Given the description of an element on the screen output the (x, y) to click on. 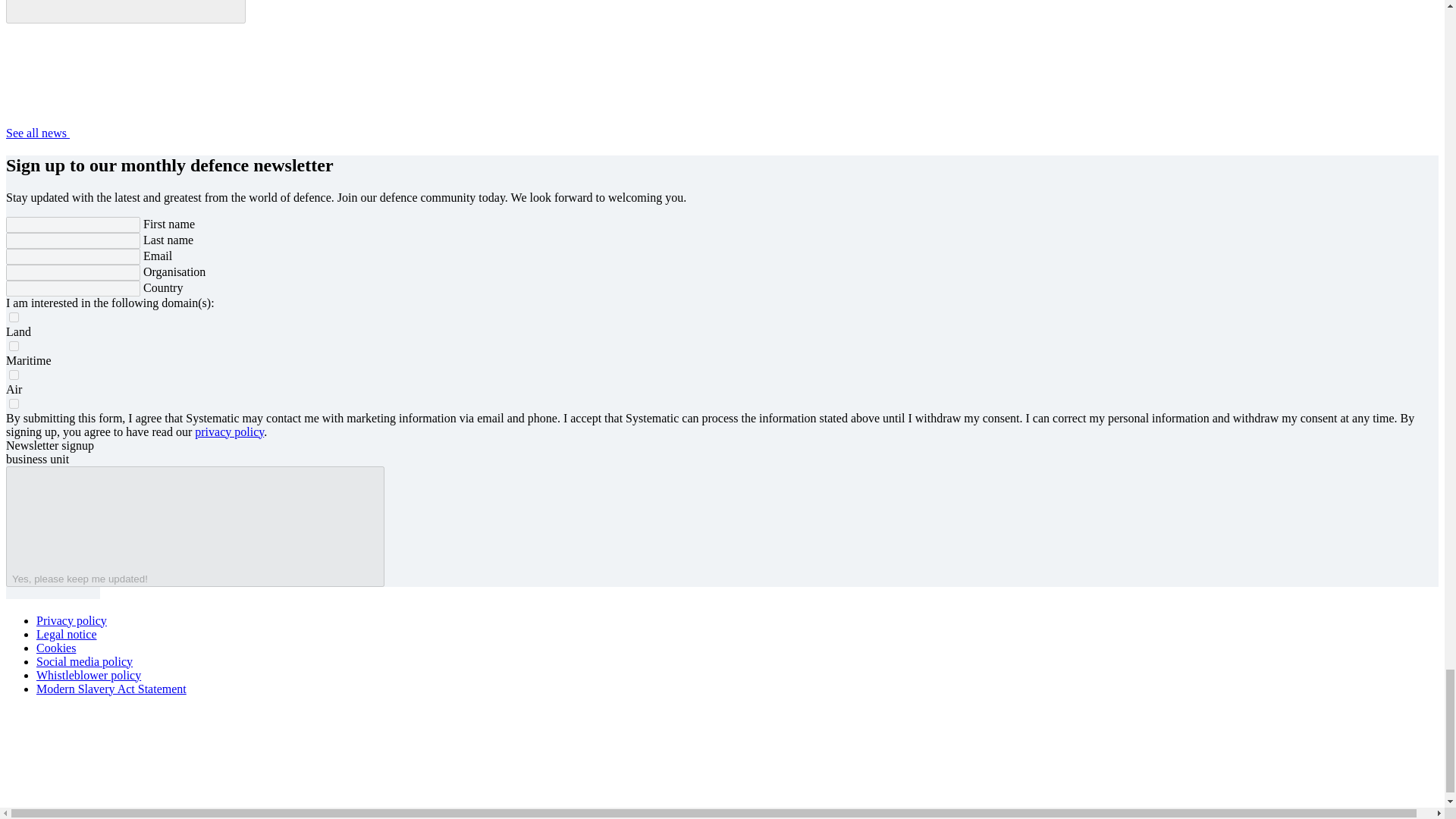
Land (13, 316)
Privacy policy (71, 619)
Cookies (55, 646)
Modern Slavery Act Statement (111, 687)
privacy policy (229, 431)
true (13, 402)
Legal notice (66, 633)
Maritime (13, 345)
Air (13, 374)
Whistleblower policy (88, 674)
